Given the description of an element on the screen output the (x, y) to click on. 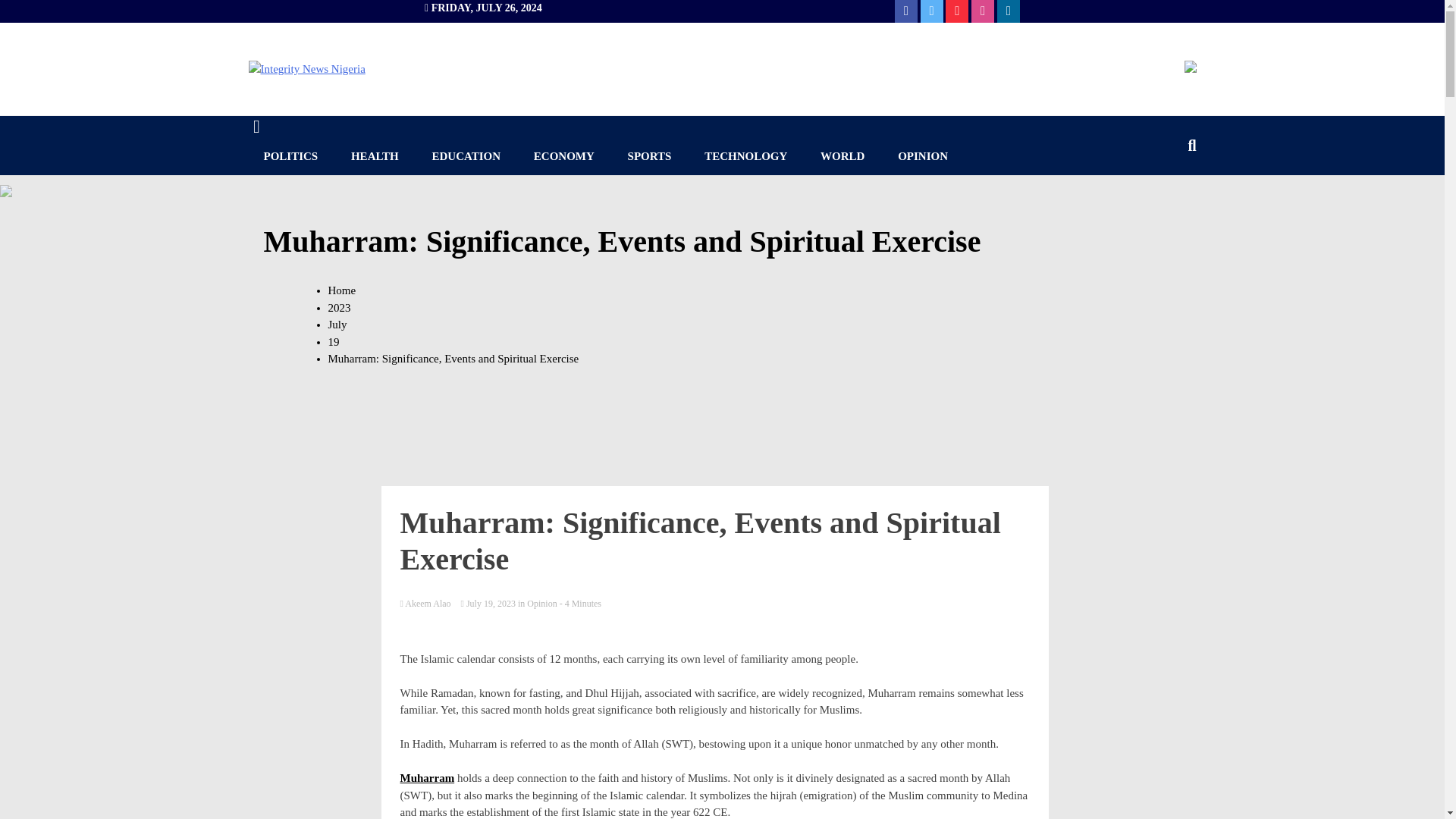
OPINION (922, 156)
POLITICS (290, 156)
ECONOMY (564, 156)
HEALTH (374, 156)
Estimated Reading Time of Article (580, 603)
EDUCATION (466, 156)
WORLD (842, 156)
SPORTS (649, 156)
TECHNOLOGY (745, 156)
